Given the description of an element on the screen output the (x, y) to click on. 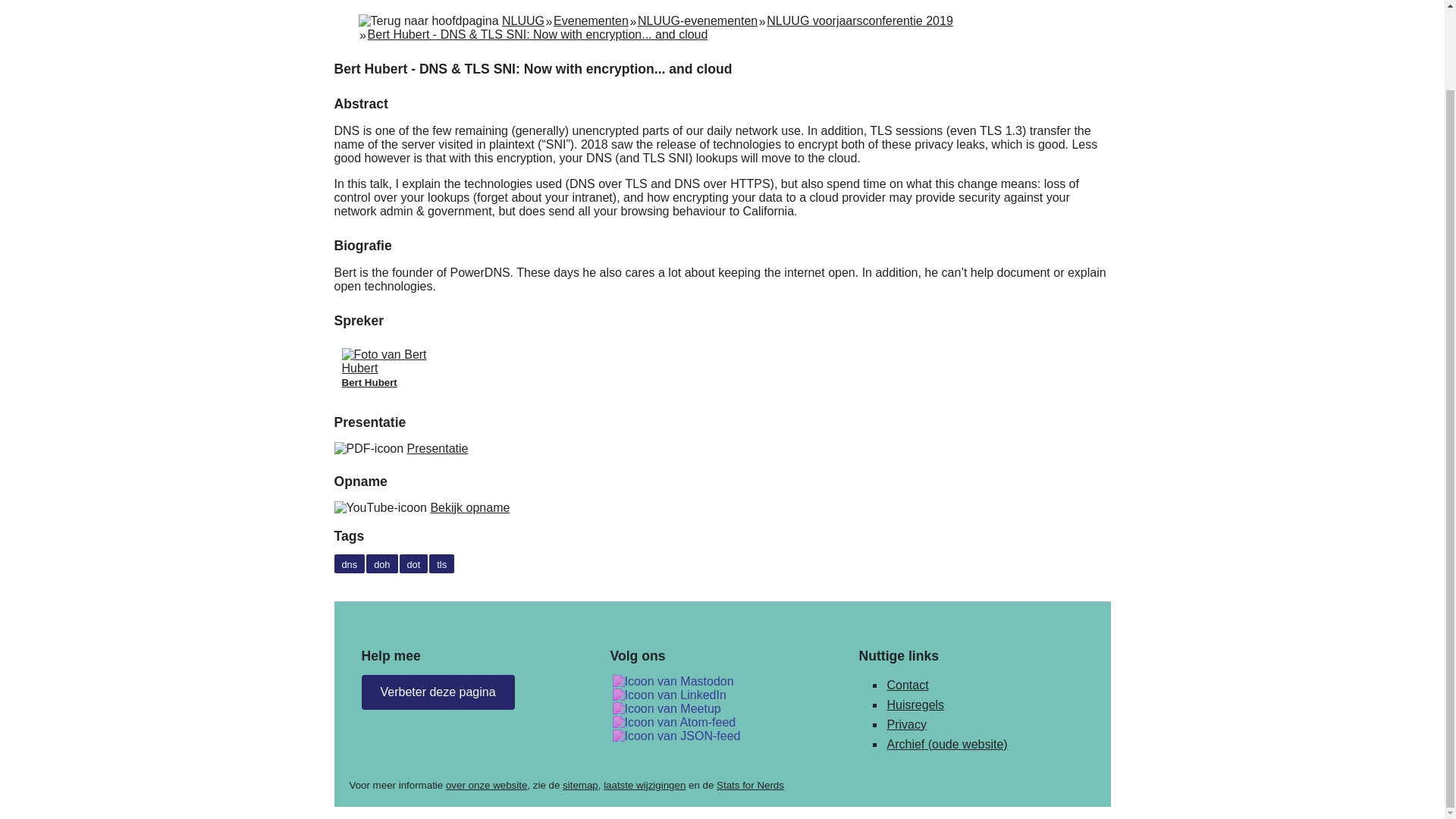
Bert Hubert (398, 368)
Presentatie (437, 448)
NLUUG (523, 20)
Bekijk onze geplande evenementen (666, 708)
NLUUG-evenementen (697, 20)
Evenementen (590, 20)
Verbeter deze pagina (437, 692)
JSON Feed voor actueel nieuws (676, 735)
dns (348, 564)
doh (382, 564)
